Given the description of an element on the screen output the (x, y) to click on. 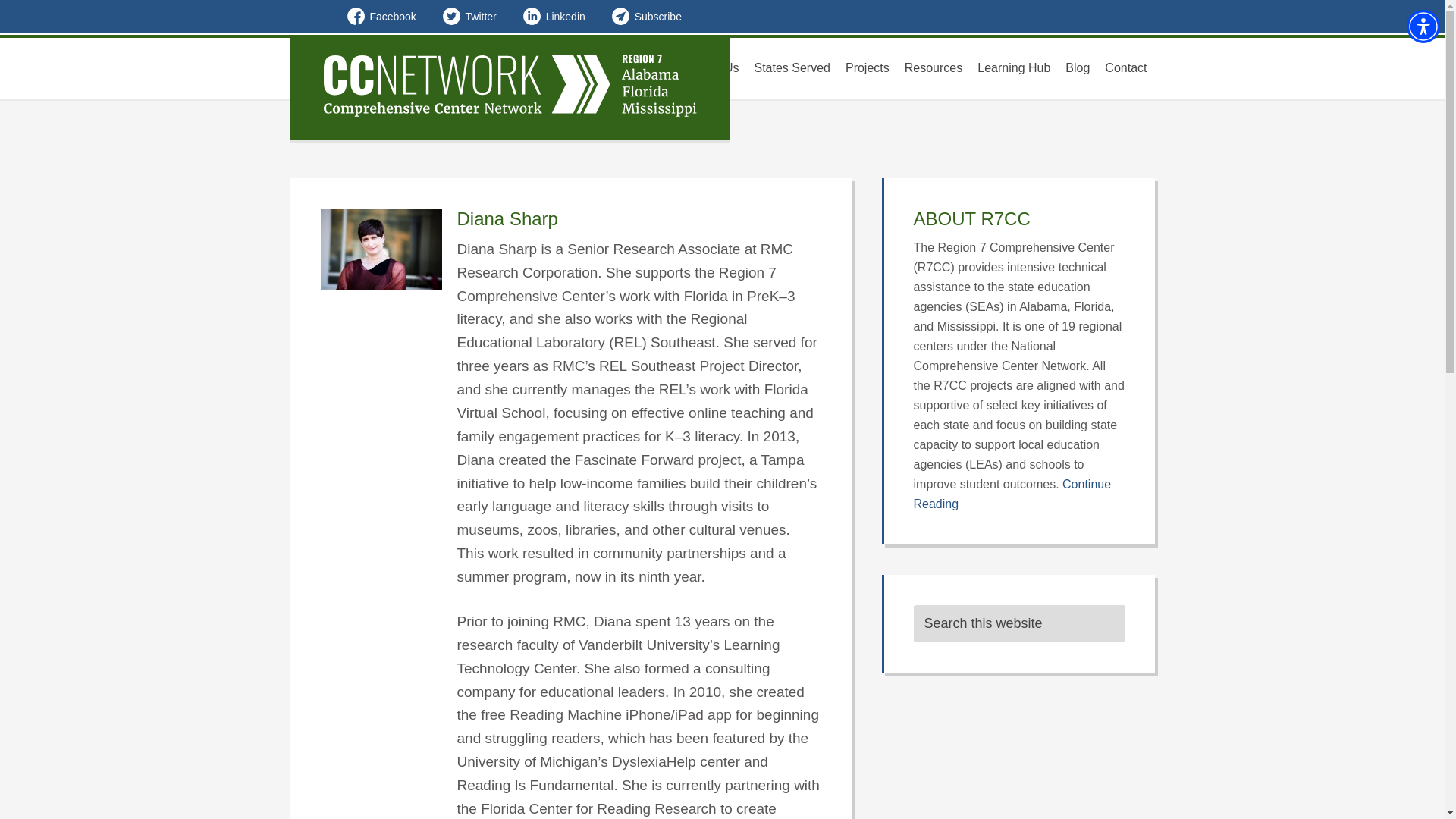
Subscribe (646, 16)
States Served (791, 67)
Facebook (381, 16)
Twitter (469, 16)
Linkedin (553, 16)
Projects (867, 67)
Accessibility Menu (1422, 26)
Learning Hub (1013, 67)
Contact (1125, 67)
About Us (713, 67)
Resources (932, 67)
Diana Sharp (507, 218)
